Given the description of an element on the screen output the (x, y) to click on. 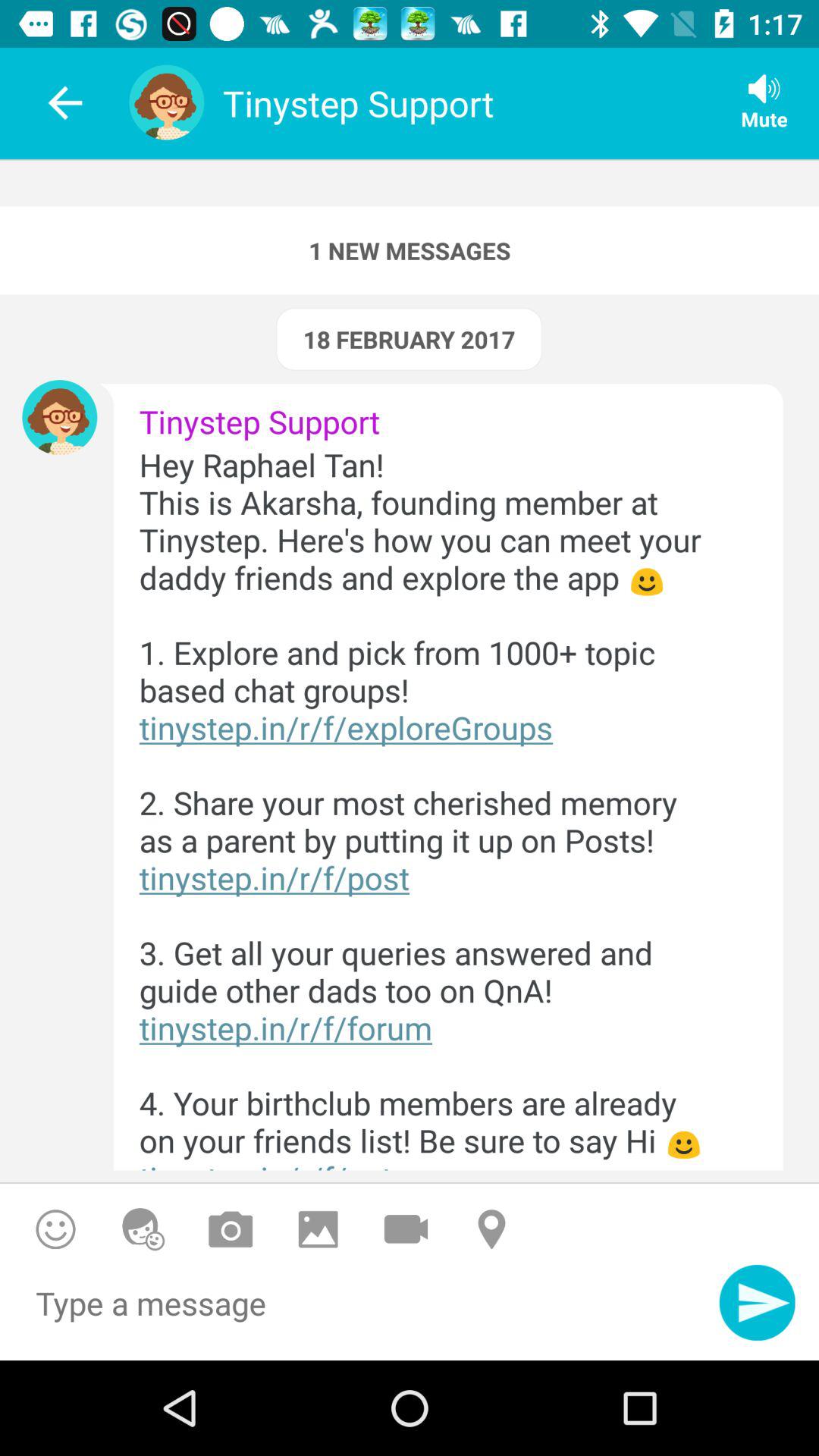
turn on location (493, 1229)
